Given the description of an element on the screen output the (x, y) to click on. 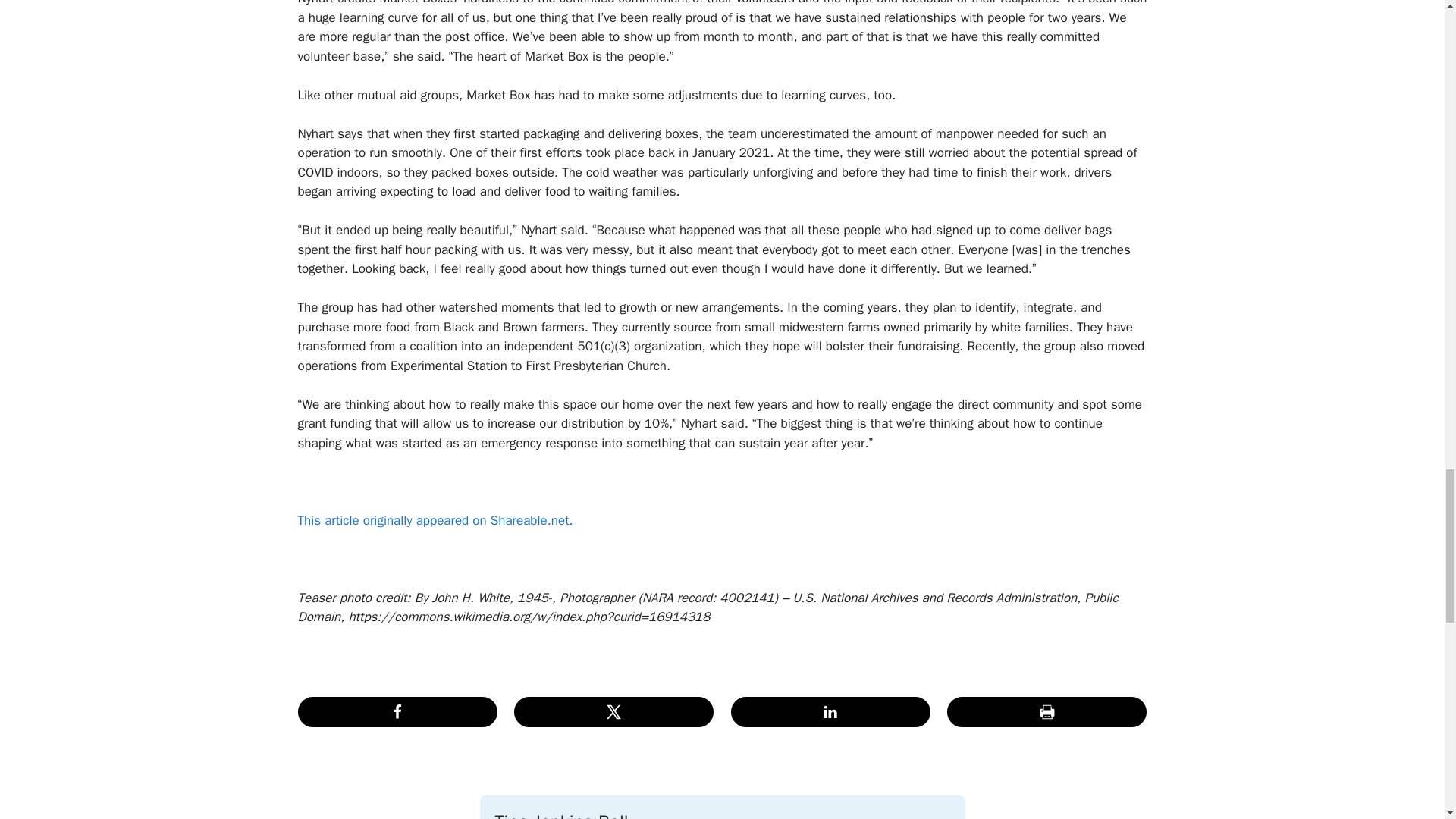
Share on Facebook (396, 711)
Share on X (613, 711)
Print this webpage (1047, 711)
Share on LinkedIn (830, 711)
